Given the description of an element on the screen output the (x, y) to click on. 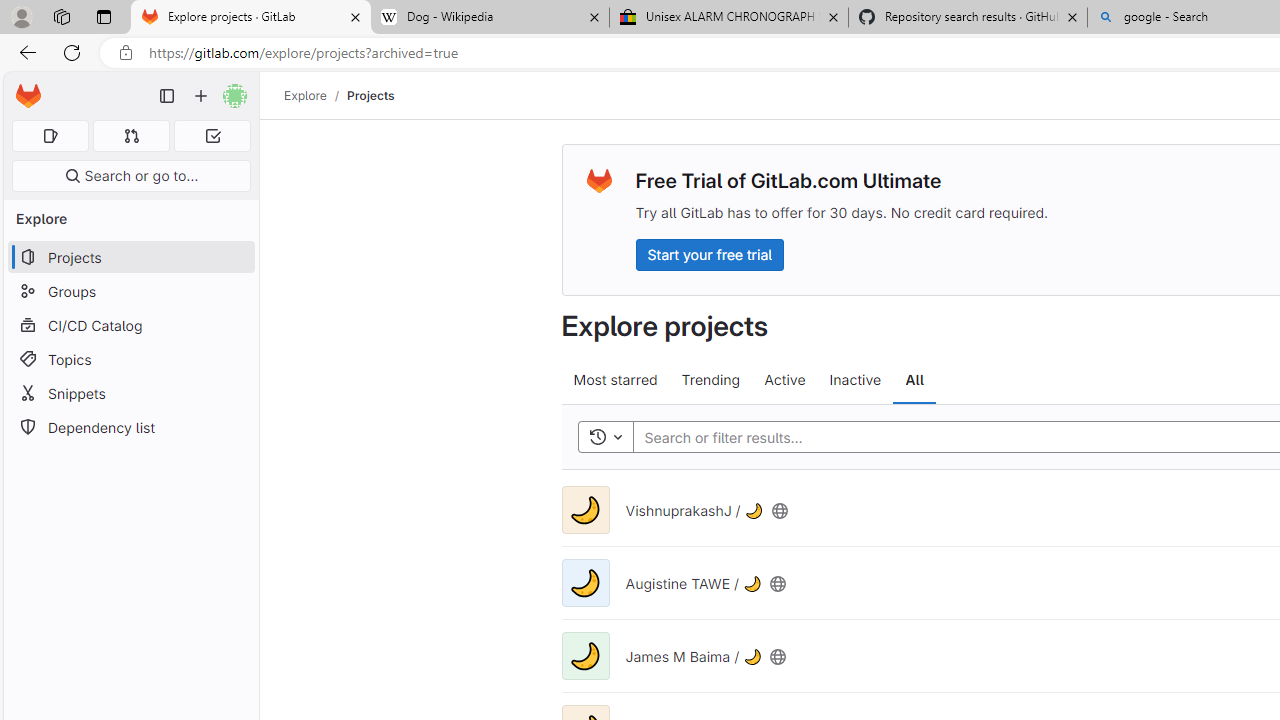
Groups (130, 291)
All (914, 379)
Merge requests 0 (131, 136)
Dependency list (130, 427)
CI/CD Catalog (130, 325)
Inactive (854, 379)
Start your free trial (709, 254)
Create new... (201, 96)
Topics (130, 358)
Projects (370, 95)
